Given the description of an element on the screen output the (x, y) to click on. 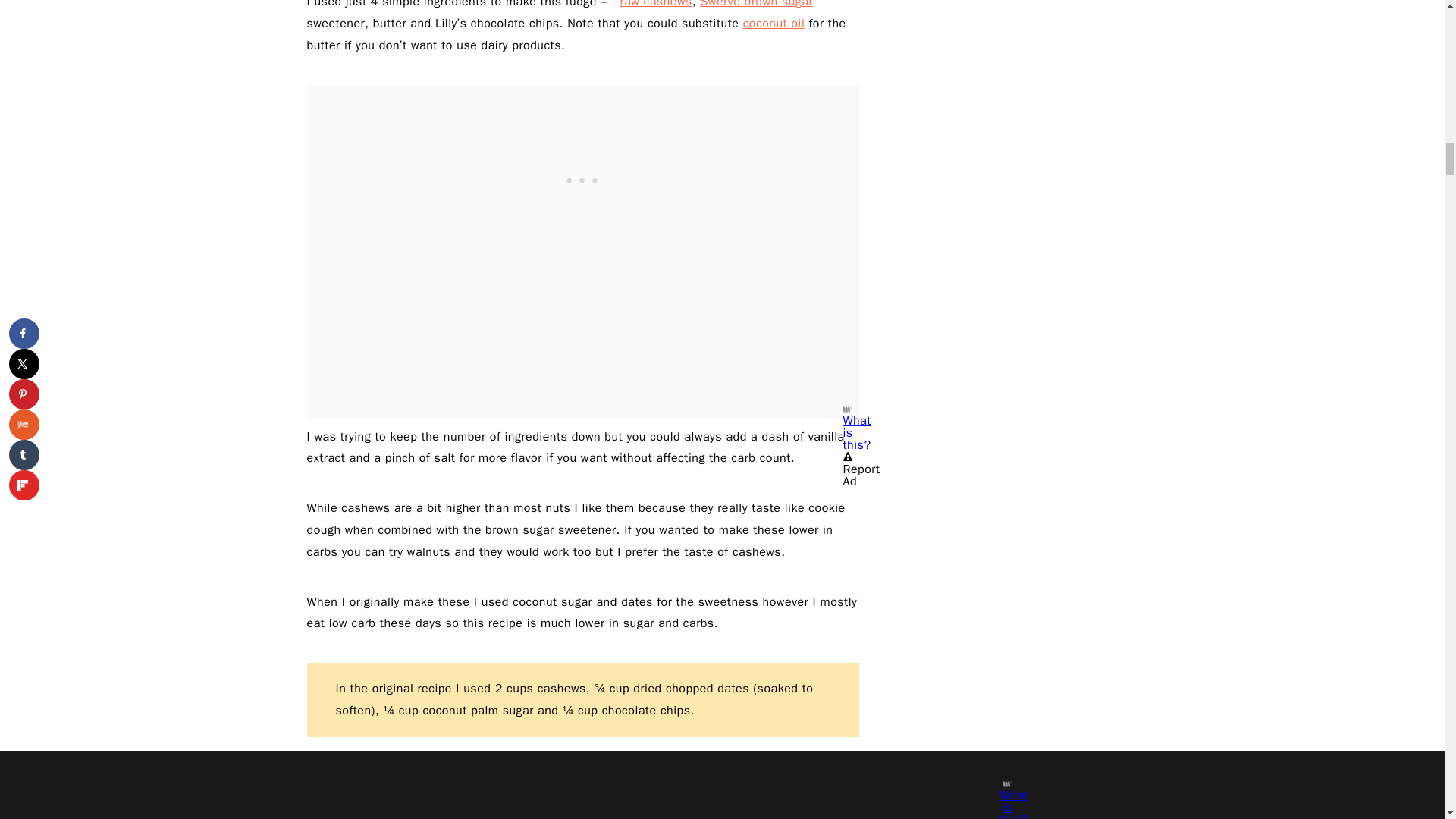
3rd party ad content (581, 179)
